Given the description of an element on the screen output the (x, y) to click on. 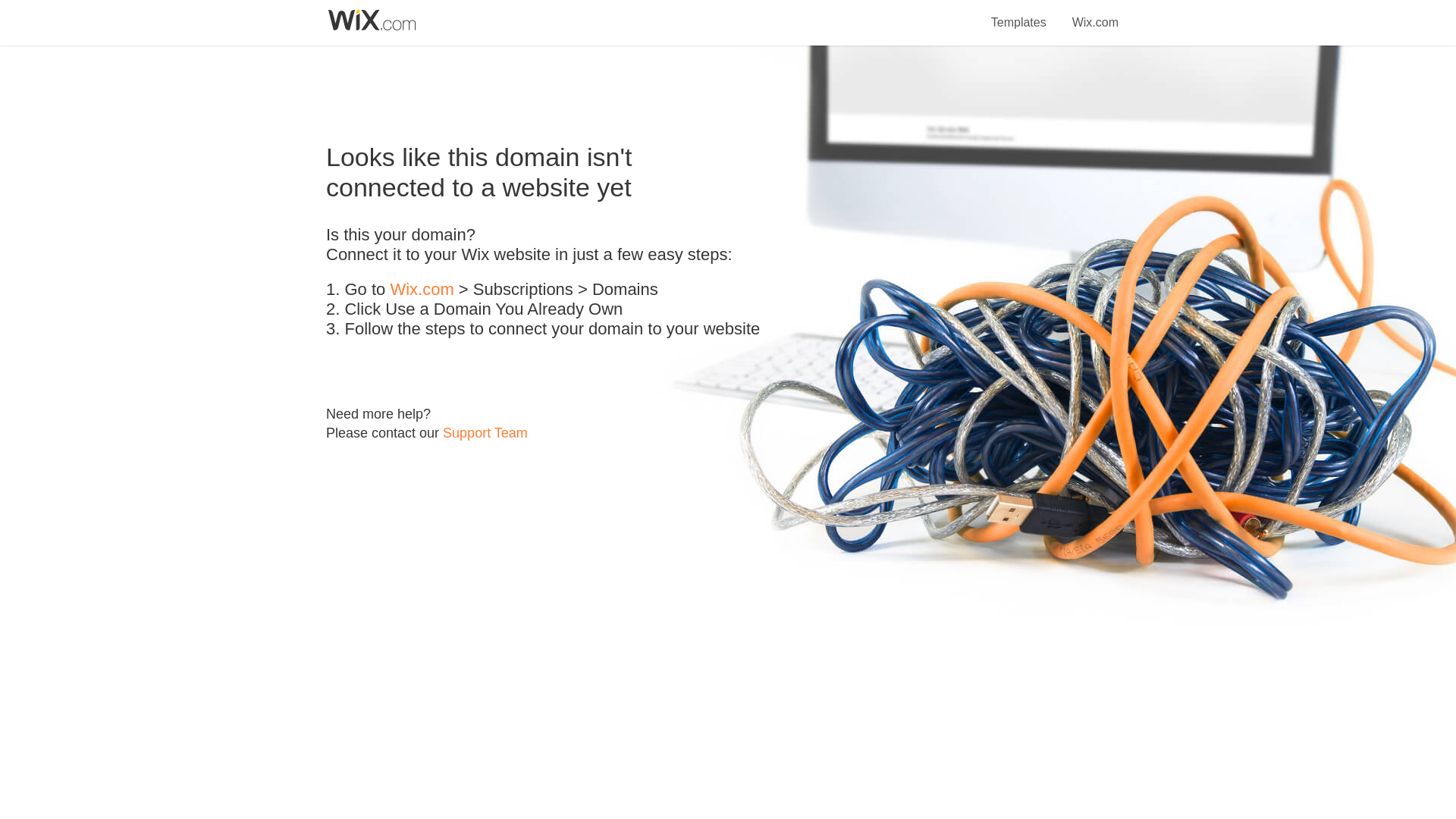
Support Team (484, 432)
Wix.com (1095, 14)
Templates (1018, 14)
Wix.com (421, 289)
